Given the description of an element on the screen output the (x, y) to click on. 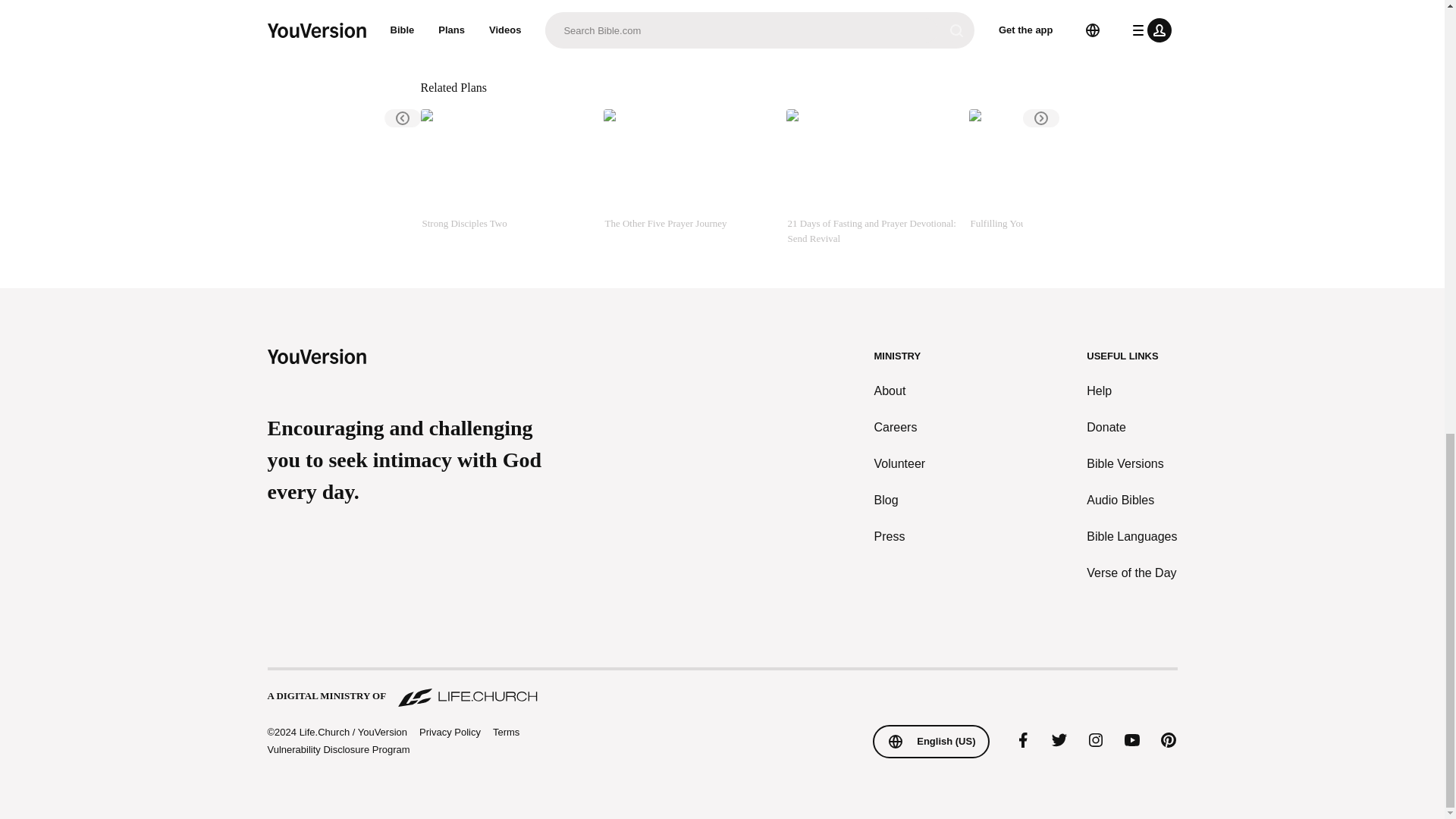
Careers (900, 427)
A DIGITAL MINISTRY OF (721, 688)
Press (900, 536)
Strong Disciples Two (505, 176)
Bible Languages (1131, 536)
21 Days of Fasting and Prayer Devotional: Send Revival (871, 176)
Fulfilling Your Purpose (1054, 176)
Privacy Policy (449, 732)
The Other Five Prayer Journey (689, 176)
Verse of the Day (1131, 573)
